Given the description of an element on the screen output the (x, y) to click on. 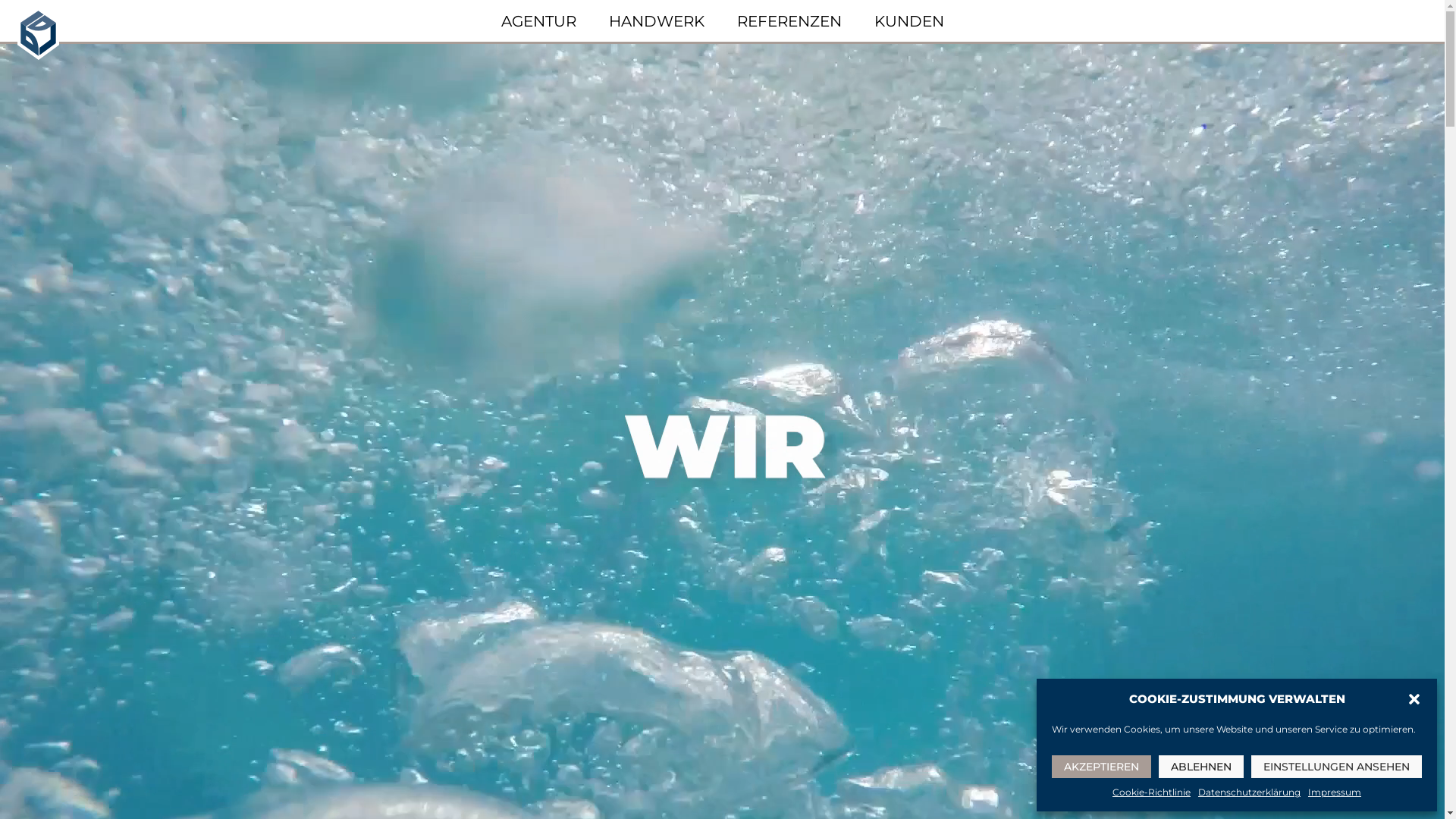
ABLEHNEN Element type: text (1200, 766)
Cookie-Richtlinie Element type: text (1151, 792)
KUNDEN Element type: text (908, 20)
REFERENZEN Element type: text (789, 20)
AGENTUR Element type: text (537, 20)
HANDWERK Element type: text (655, 20)
Impressum Element type: text (1334, 792)
EINSTELLUNGEN ANSEHEN Element type: text (1336, 766)
AKZEPTIEREN Element type: text (1101, 766)
